Given the description of an element on the screen output the (x, y) to click on. 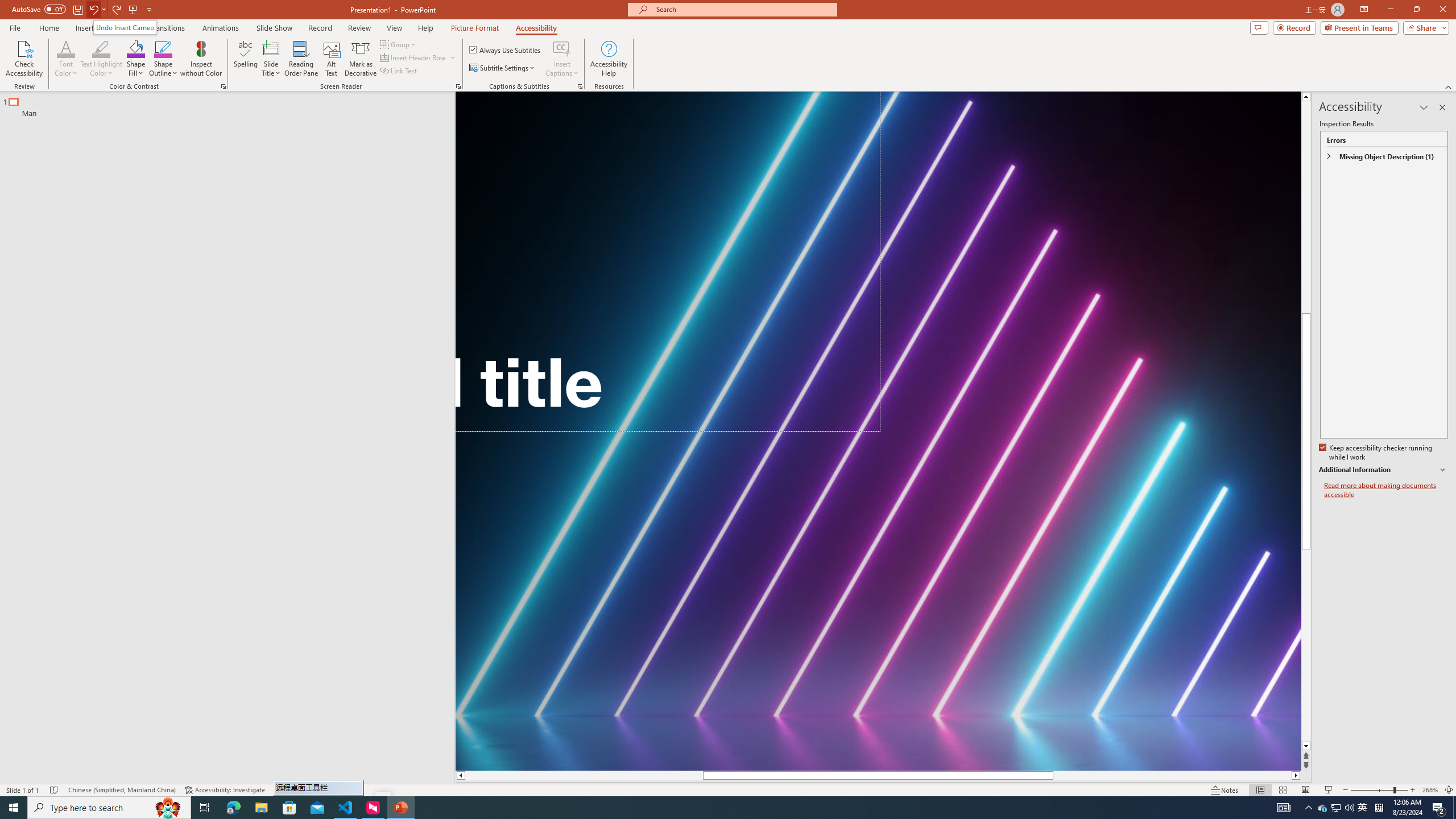
Insert Header Row (418, 56)
Insert Captions (561, 58)
Subtitle Settings (502, 67)
Mark as Decorative (360, 58)
Group (398, 44)
